Given the description of an element on the screen output the (x, y) to click on. 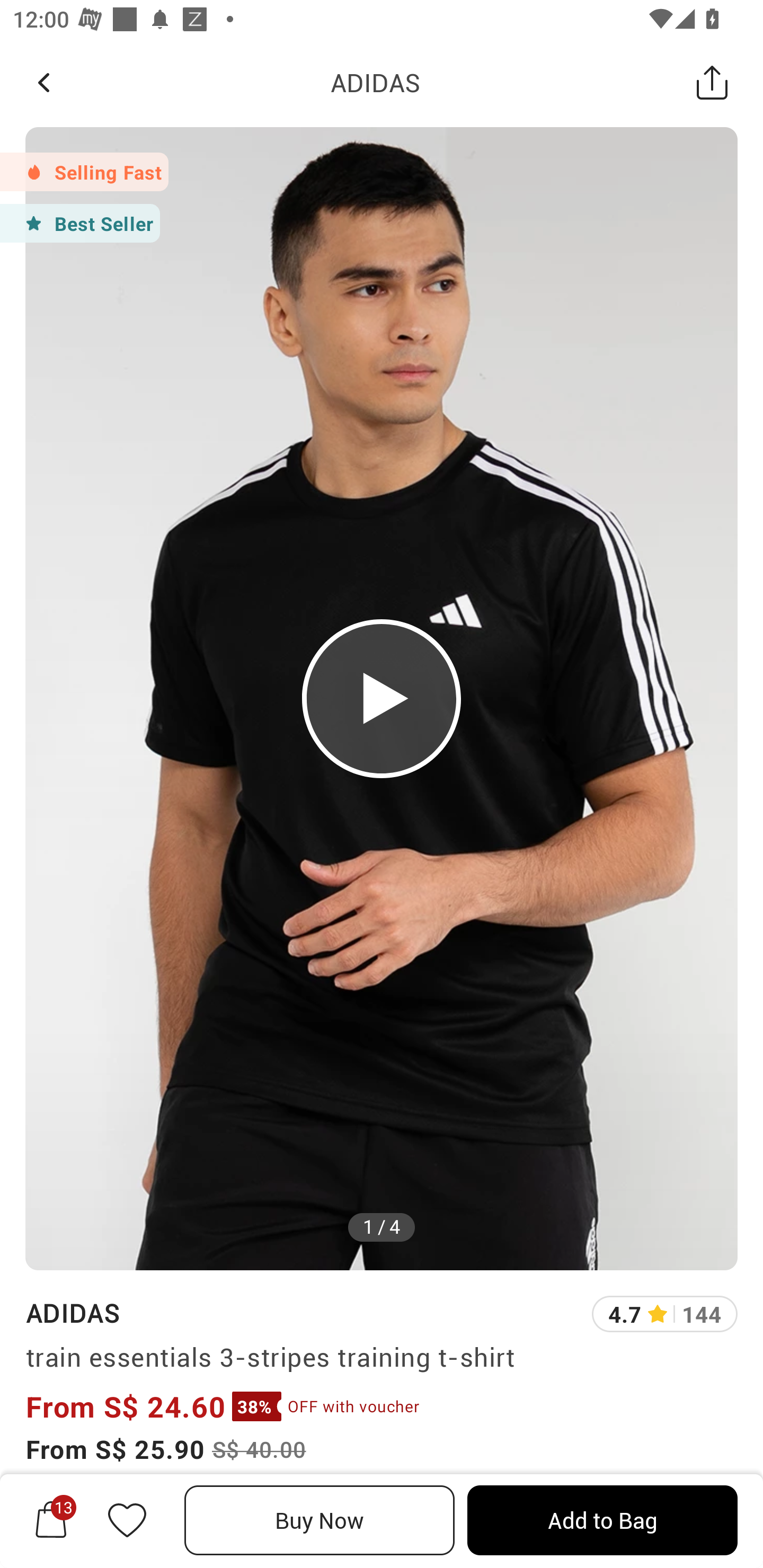
ADIDAS (375, 82)
Share this Product (711, 82)
ADIDAS (72, 1312)
4.7 144 (664, 1313)
Buy Now (319, 1519)
Add to Bag (601, 1519)
13 (50, 1520)
